Given the description of an element on the screen output the (x, y) to click on. 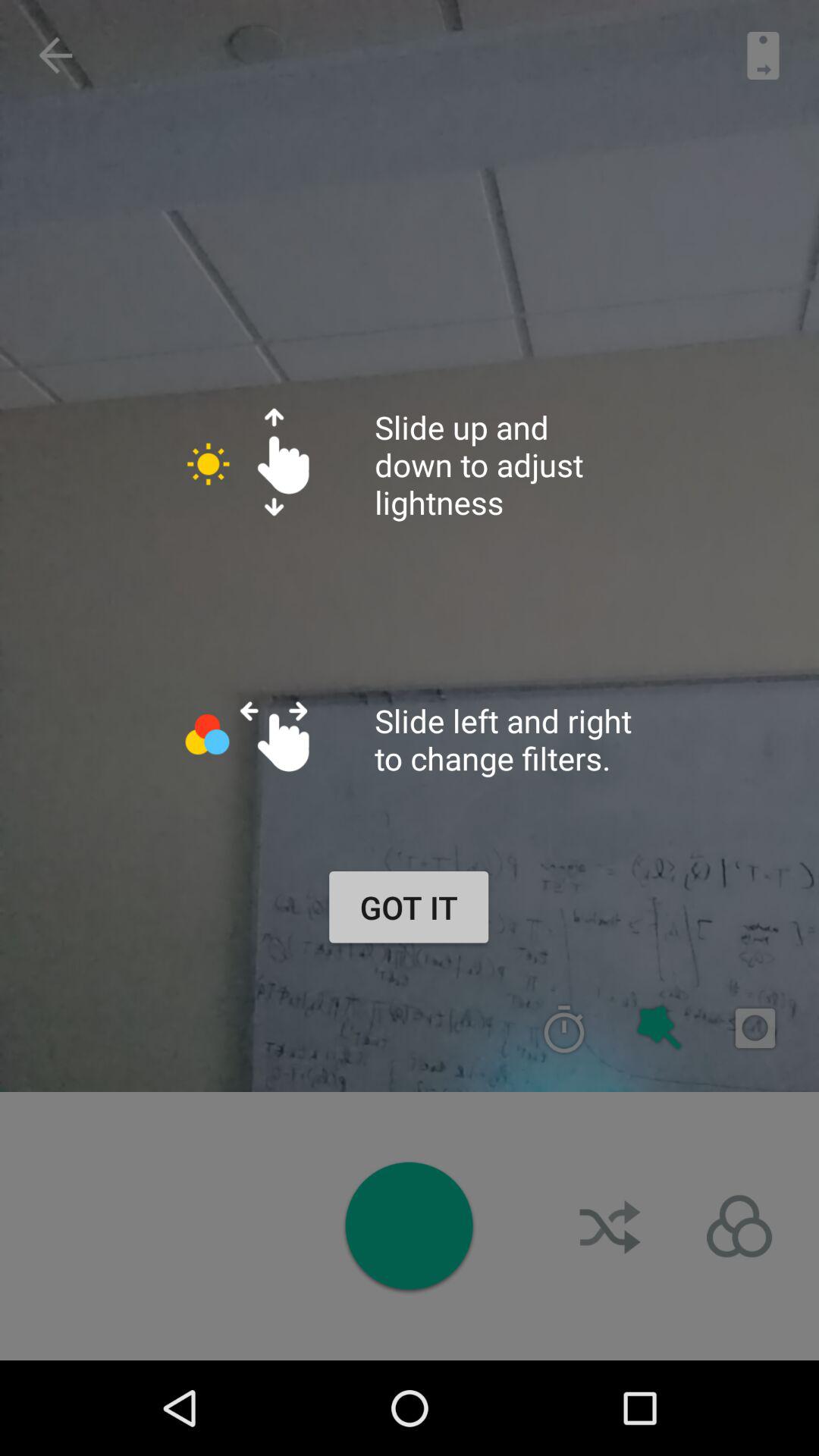
rotate button (611, 1226)
